Given the description of an element on the screen output the (x, y) to click on. 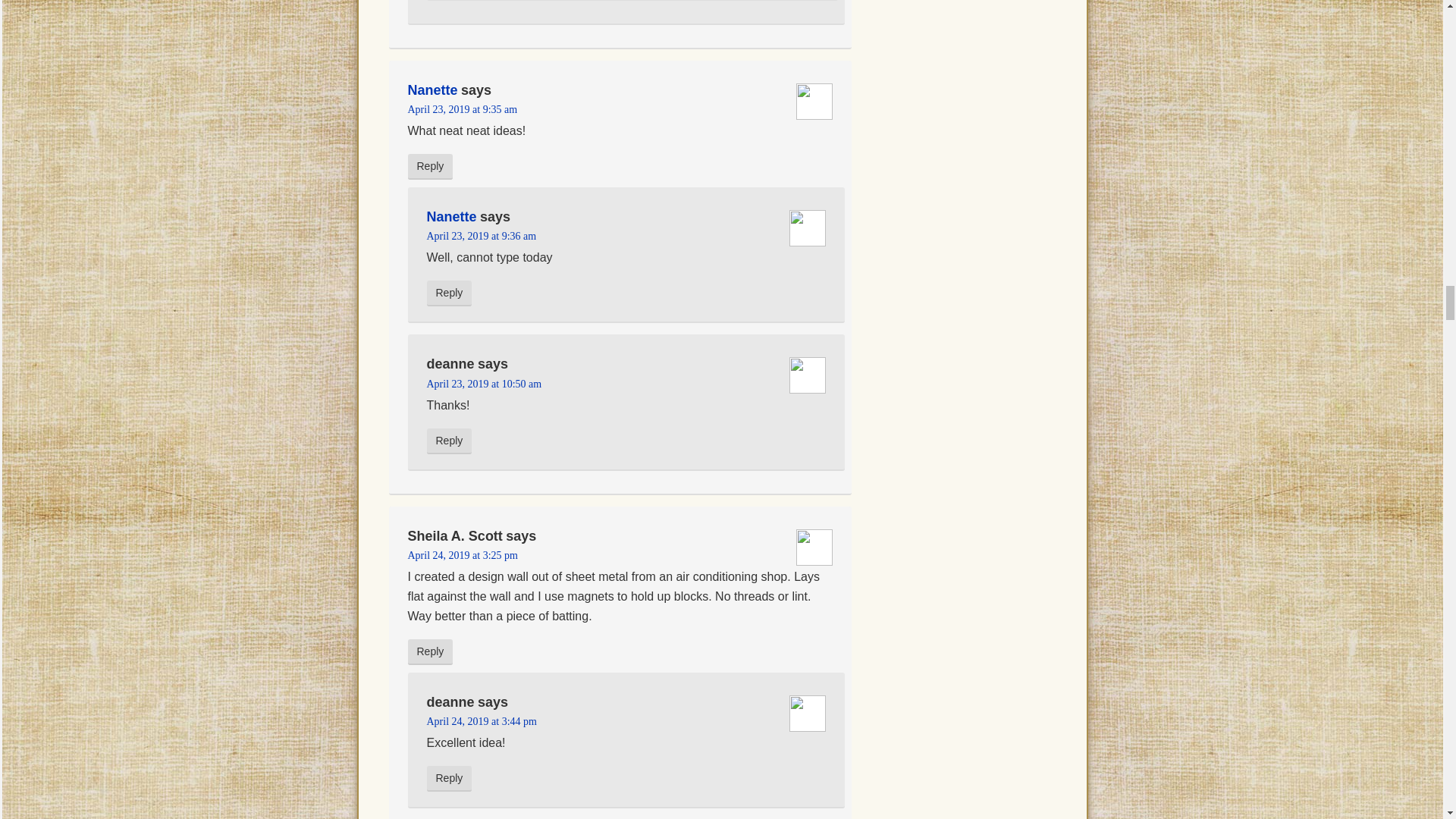
Reply (448, 441)
Reply (448, 778)
Reply (448, 293)
Reply (429, 652)
April 24, 2019 at 3:44 pm (480, 721)
Nanette (451, 216)
April 24, 2019 at 3:25 pm (462, 555)
Reply (429, 166)
Nanette (432, 89)
April 23, 2019 at 9:35 am (462, 109)
